Given the description of an element on the screen output the (x, y) to click on. 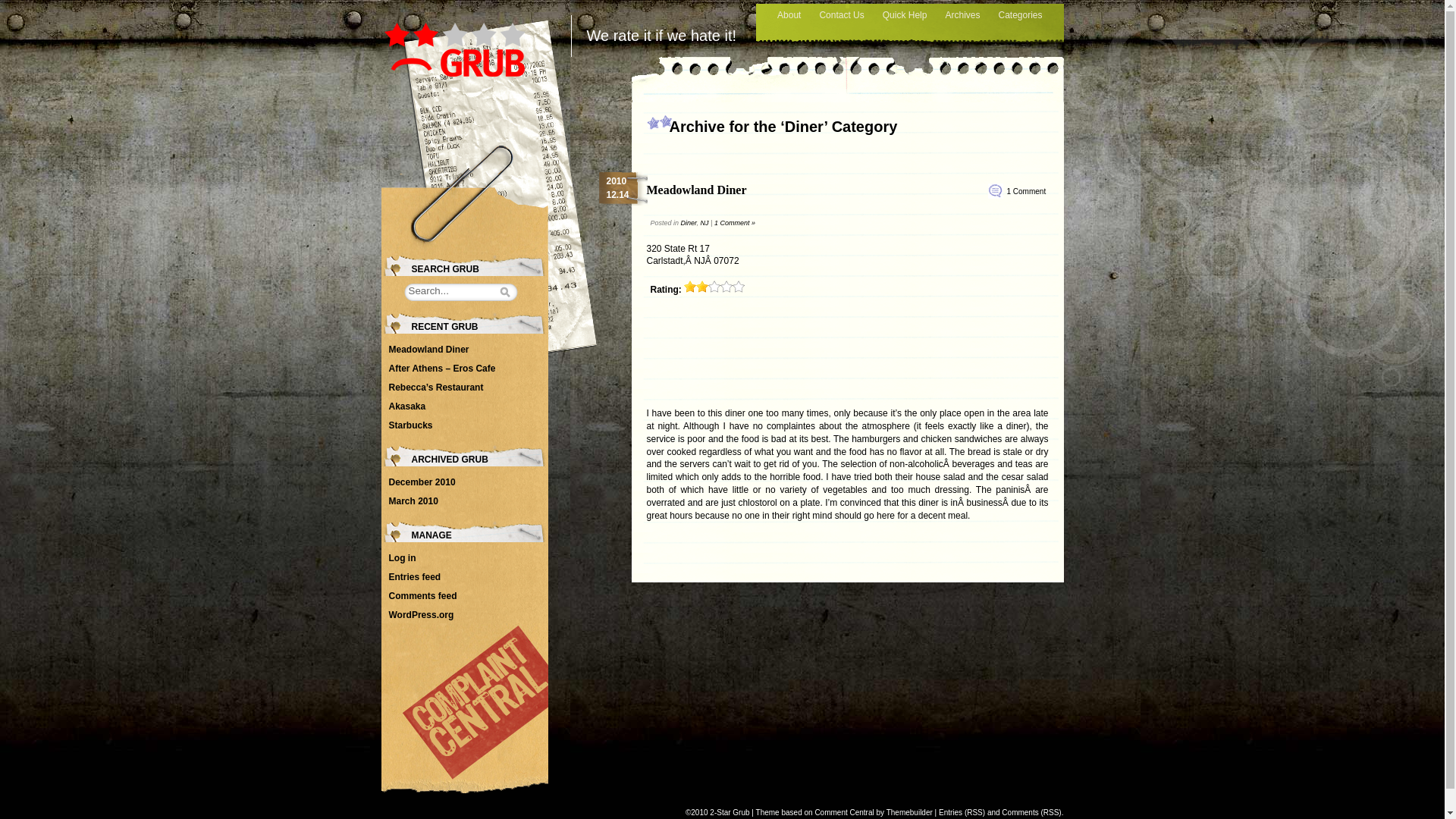
Akasaka Element type: text (406, 406)
Categories Element type: text (1019, 15)
Comments (RSS) Element type: text (1030, 812)
WordPress.org Element type: text (420, 614)
December 2010 Element type: text (421, 481)
About Element type: text (788, 15)
Meadowland Diner Element type: text (428, 349)
Meadowland Diner Element type: text (696, 189)
Entries (RSS) Element type: text (961, 812)
Diner Element type: text (688, 222)
Entries feed Element type: text (414, 576)
Quick Help Element type: text (904, 15)
Comment Central by Themebuilder Element type: text (872, 812)
March 2010 Element type: text (412, 500)
NJ Element type: text (704, 222)
1 Comment Element type: text (1026, 191)
Comments feed Element type: text (422, 595)
Log in Element type: text (401, 557)
Archives Element type: text (961, 15)
Contact Us Element type: text (840, 15)
Starbucks Element type: text (410, 425)
